Given the description of an element on the screen output the (x, y) to click on. 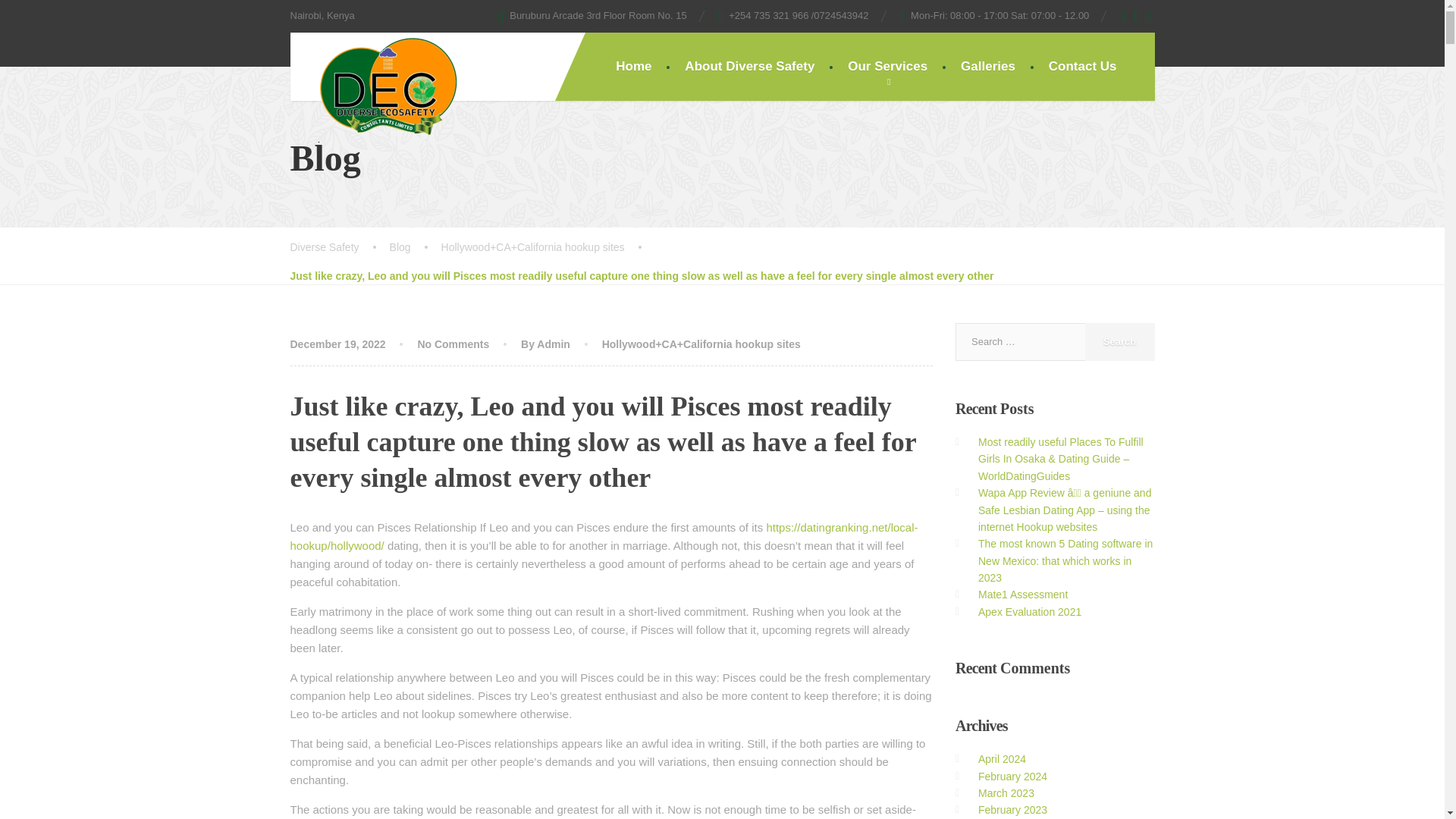
Contact Us (1082, 66)
About Diverse Safety (749, 66)
Search (1119, 341)
Home (632, 66)
Our Services (887, 66)
Diverse Safety (374, 87)
Blog (415, 246)
Mate1 Assessment (1022, 594)
